Given the description of an element on the screen output the (x, y) to click on. 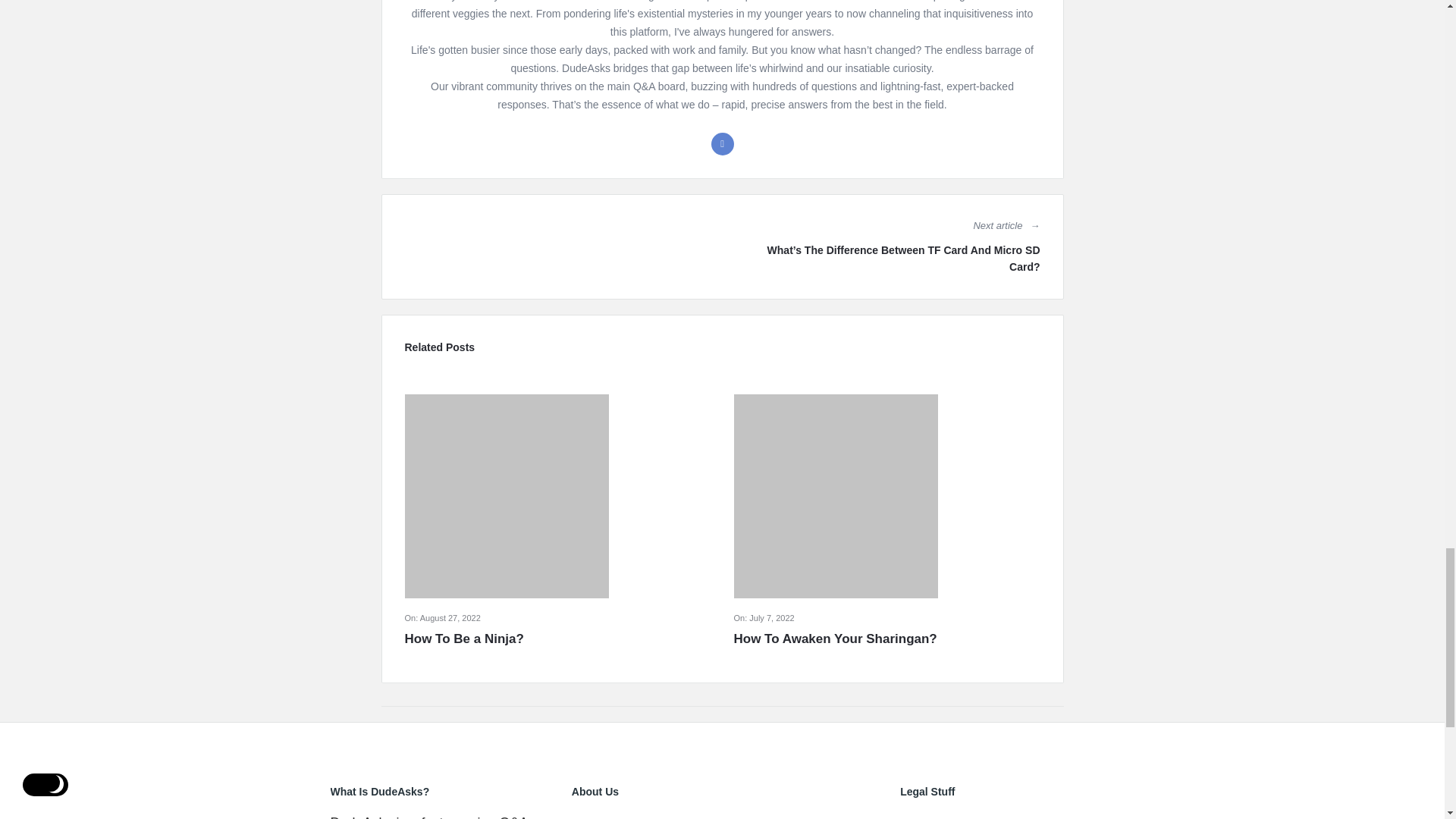
How To Be a Ninja? (557, 638)
How To Awaken Your Sharingan? (887, 638)
